Given the description of an element on the screen output the (x, y) to click on. 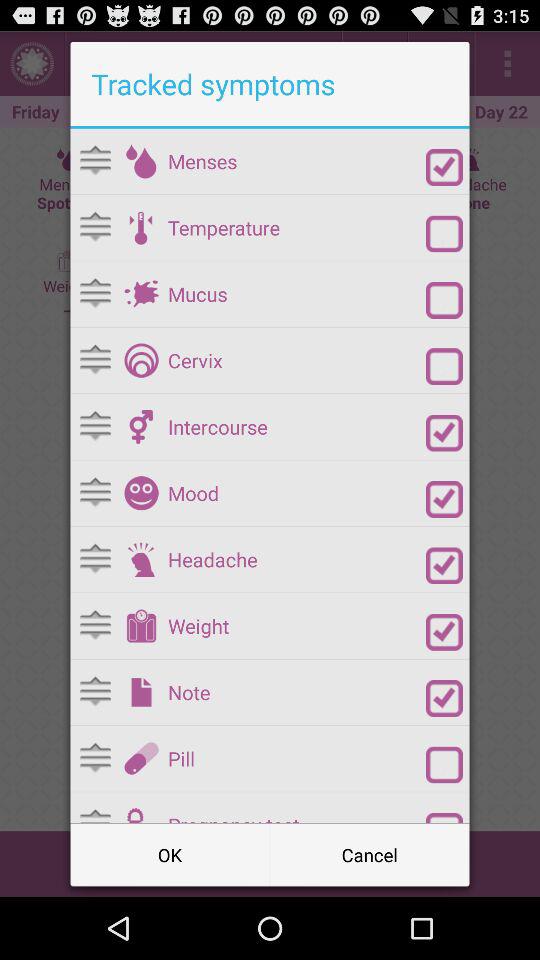
go to cervix (141, 360)
